Given the description of an element on the screen output the (x, y) to click on. 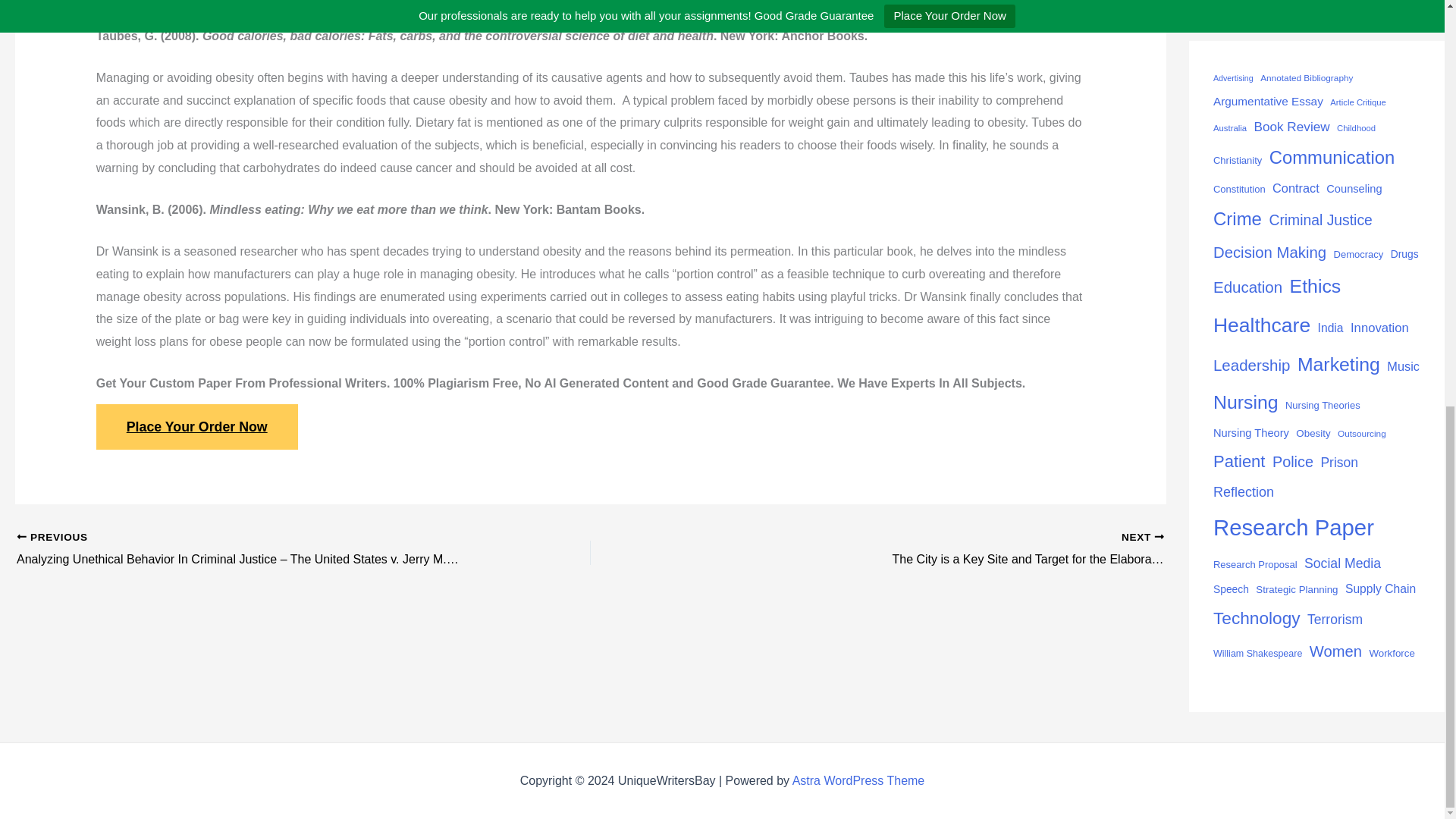
Counseling (1353, 188)
Christianity (1237, 160)
Ethics (1315, 286)
Article Critique (1358, 102)
Book Review (1291, 126)
Childhood (1355, 128)
Advertising (1232, 78)
Drugs (1404, 254)
Communication (1331, 157)
Healthcare (1261, 325)
Annotated Bibliography (1306, 78)
Contract (1295, 188)
Australia (1229, 128)
